Given the description of an element on the screen output the (x, y) to click on. 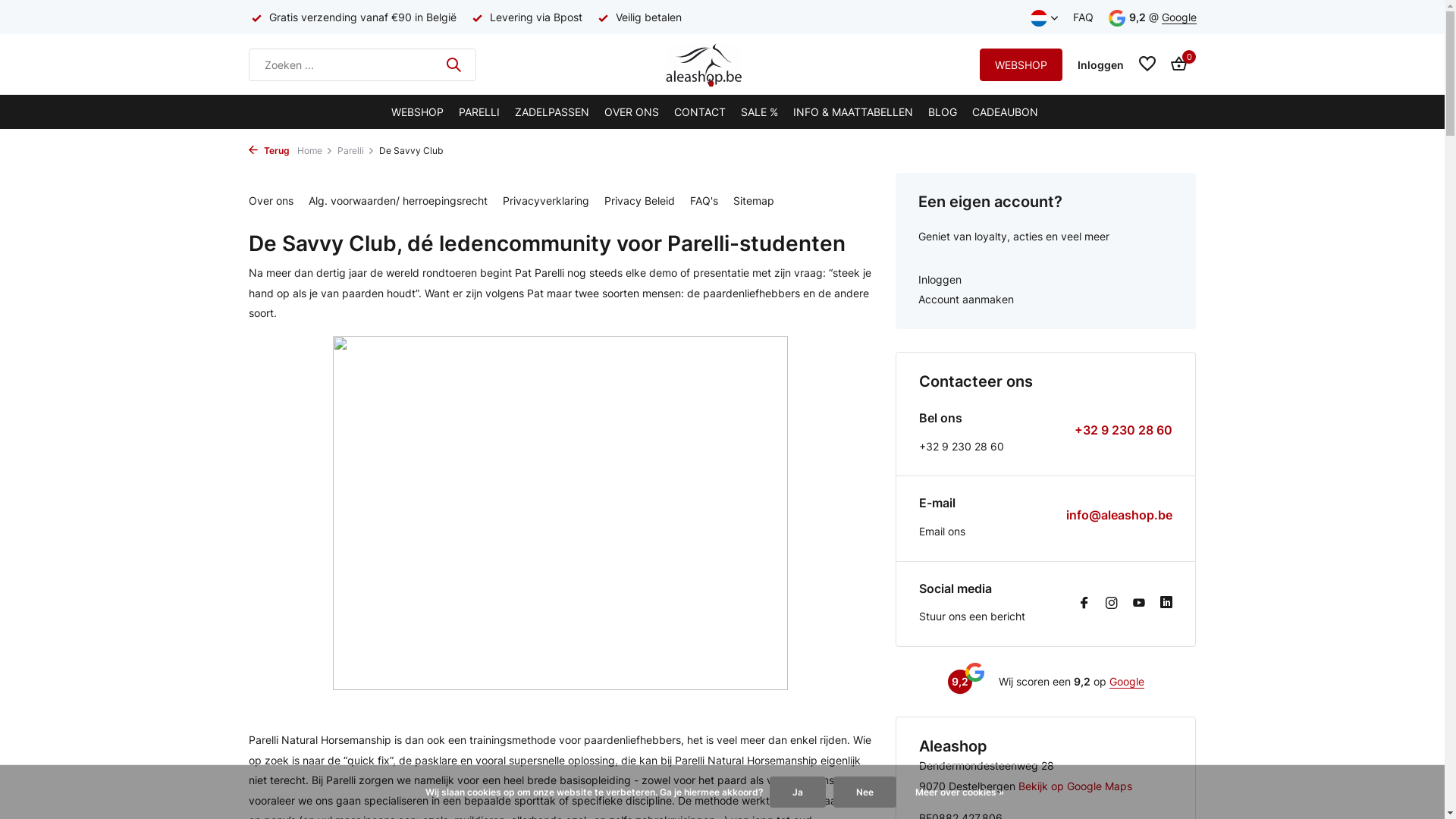
ZADELPASSEN Element type: text (551, 111)
Verlanglijst Element type: text (1147, 64)
Home Element type: text (317, 150)
Google Element type: text (1178, 17)
Inloggen Element type: text (1100, 63)
FAQ Element type: text (1083, 16)
INFO & MAATTABELLEN Element type: text (853, 111)
0 Element type: text (1174, 64)
Parelli Element type: text (357, 150)
Bekijk op Google Maps Element type: text (1075, 785)
FAQ's Element type: text (704, 200)
info@aleashop.be Element type: text (1119, 515)
Sitemap Element type: text (752, 200)
CONTACT Element type: text (699, 111)
BLOG Element type: text (942, 111)
Terug Element type: text (268, 150)
+32 9 230 28 60 Element type: text (1123, 430)
Account aanmaken Element type: text (1045, 299)
Zoeken Element type: hover (452, 64)
SALE % Element type: text (759, 111)
Ja Element type: text (797, 791)
Alg. voorwaarden/ herroepingsrecht Element type: text (396, 200)
WEBSHOP Element type: text (1020, 64)
Privacy Beleid Element type: text (638, 200)
Nee Element type: text (864, 791)
PARELLI Element type: text (478, 111)
OVER ONS Element type: text (631, 111)
CADEAUBON Element type: text (1005, 111)
Google Element type: text (1126, 681)
WEBSHOP Element type: text (417, 111)
Over ons Element type: text (270, 200)
Privacyverklaring Element type: text (545, 200)
Inloggen Element type: text (1045, 279)
linkedin2 Element type: text (1166, 603)
